Given the description of an element on the screen output the (x, y) to click on. 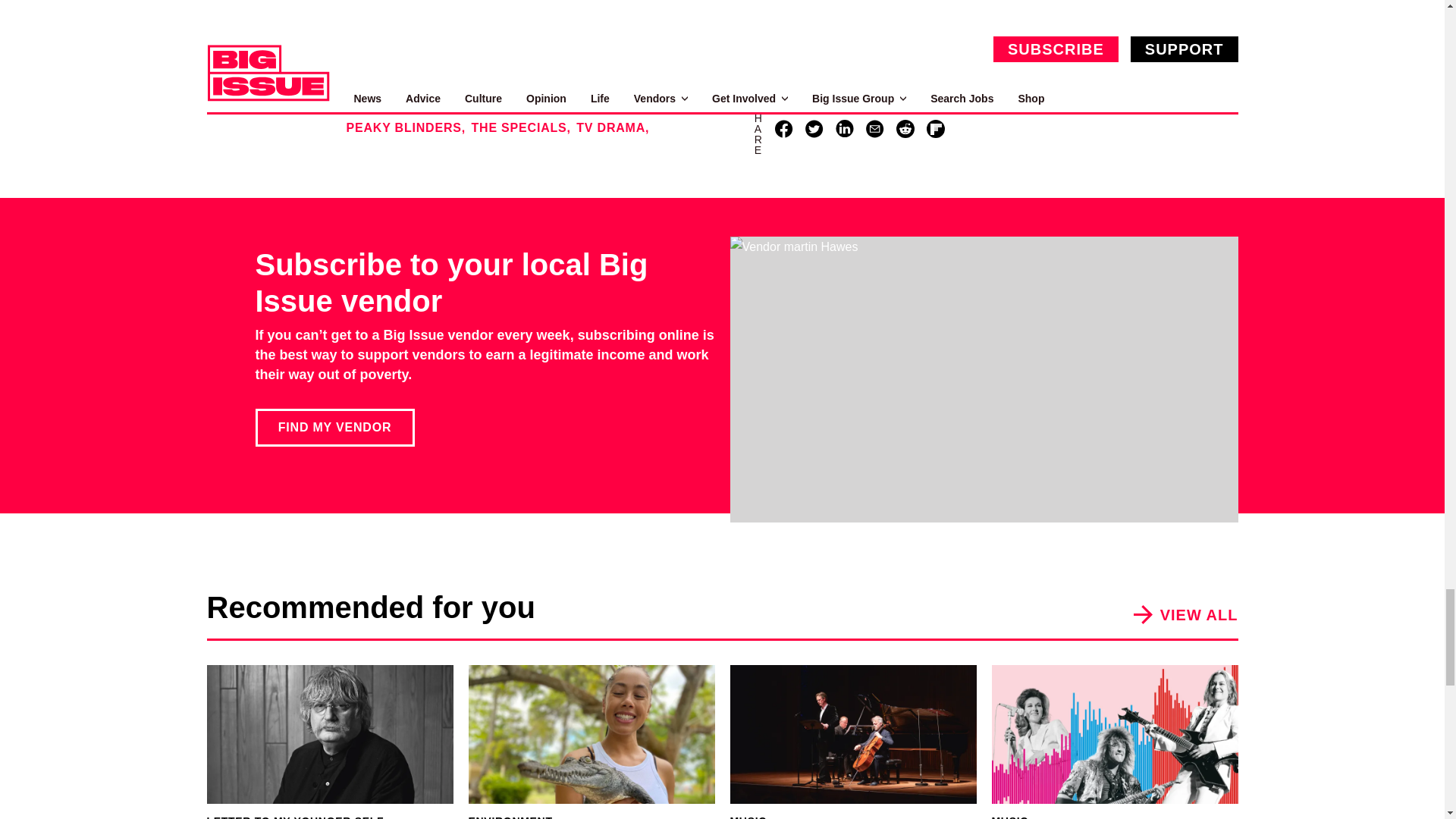
FIND MY VENDOR (333, 427)
